Given the description of an element on the screen output the (x, y) to click on. 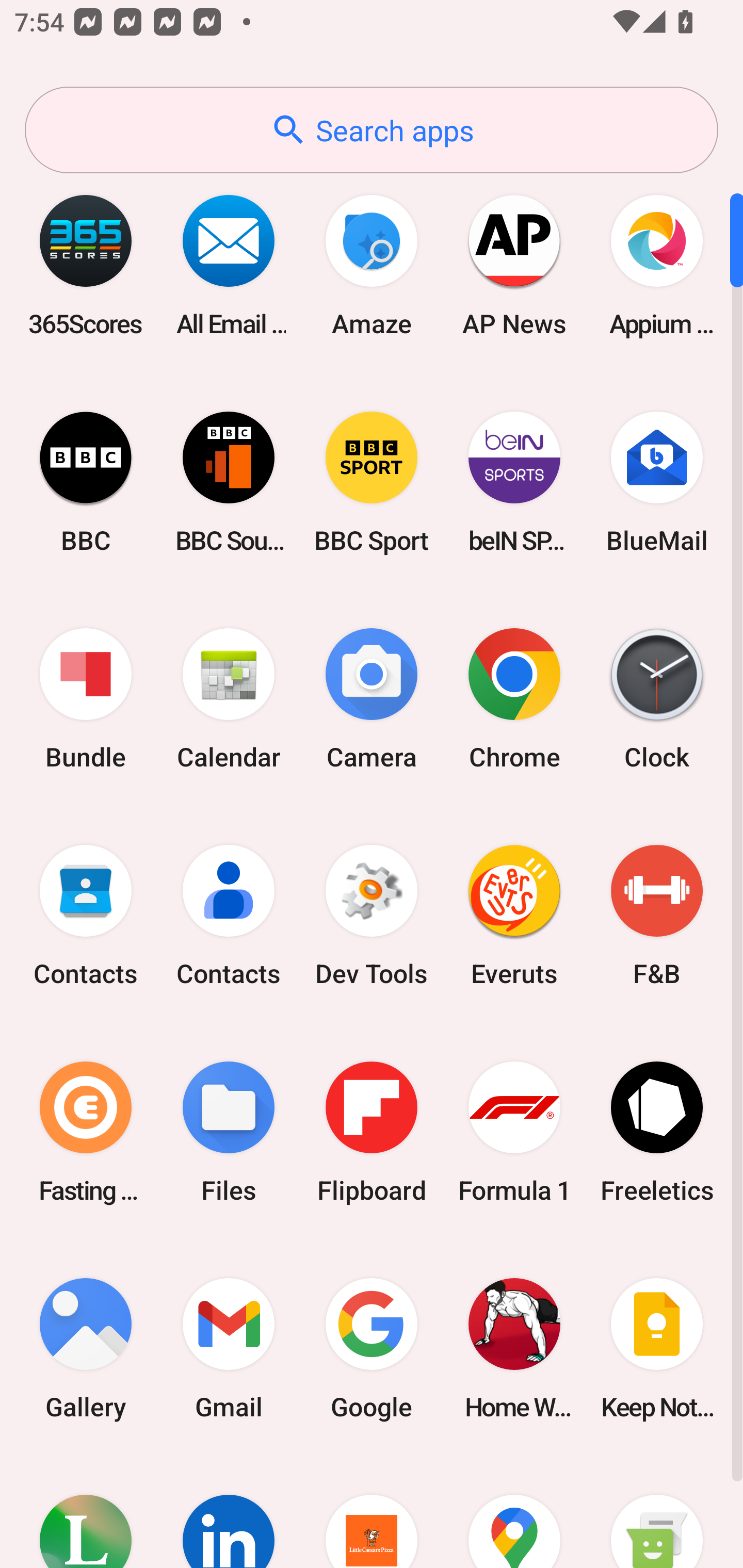
  Search apps (371, 130)
365Scores (85, 264)
All Email Connect (228, 264)
Amaze (371, 264)
AP News (514, 264)
Appium Settings (656, 264)
BBC (85, 482)
BBC Sounds (228, 482)
BBC Sport (371, 482)
beIN SPORTS (514, 482)
BlueMail (656, 482)
Bundle (85, 699)
Calendar (228, 699)
Camera (371, 699)
Chrome (514, 699)
Clock (656, 699)
Contacts (85, 915)
Contacts (228, 915)
Dev Tools (371, 915)
Everuts (514, 915)
F&B (656, 915)
Fasting Coach (85, 1131)
Files (228, 1131)
Flipboard (371, 1131)
Formula 1 (514, 1131)
Freeletics (656, 1131)
Gallery (85, 1348)
Gmail (228, 1348)
Google (371, 1348)
Home Workout (514, 1348)
Keep Notes (656, 1348)
Lifesum (85, 1512)
LinkedIn (228, 1512)
Little Caesars Pizza (371, 1512)
Maps (514, 1512)
Messaging (656, 1512)
